Given the description of an element on the screen output the (x, y) to click on. 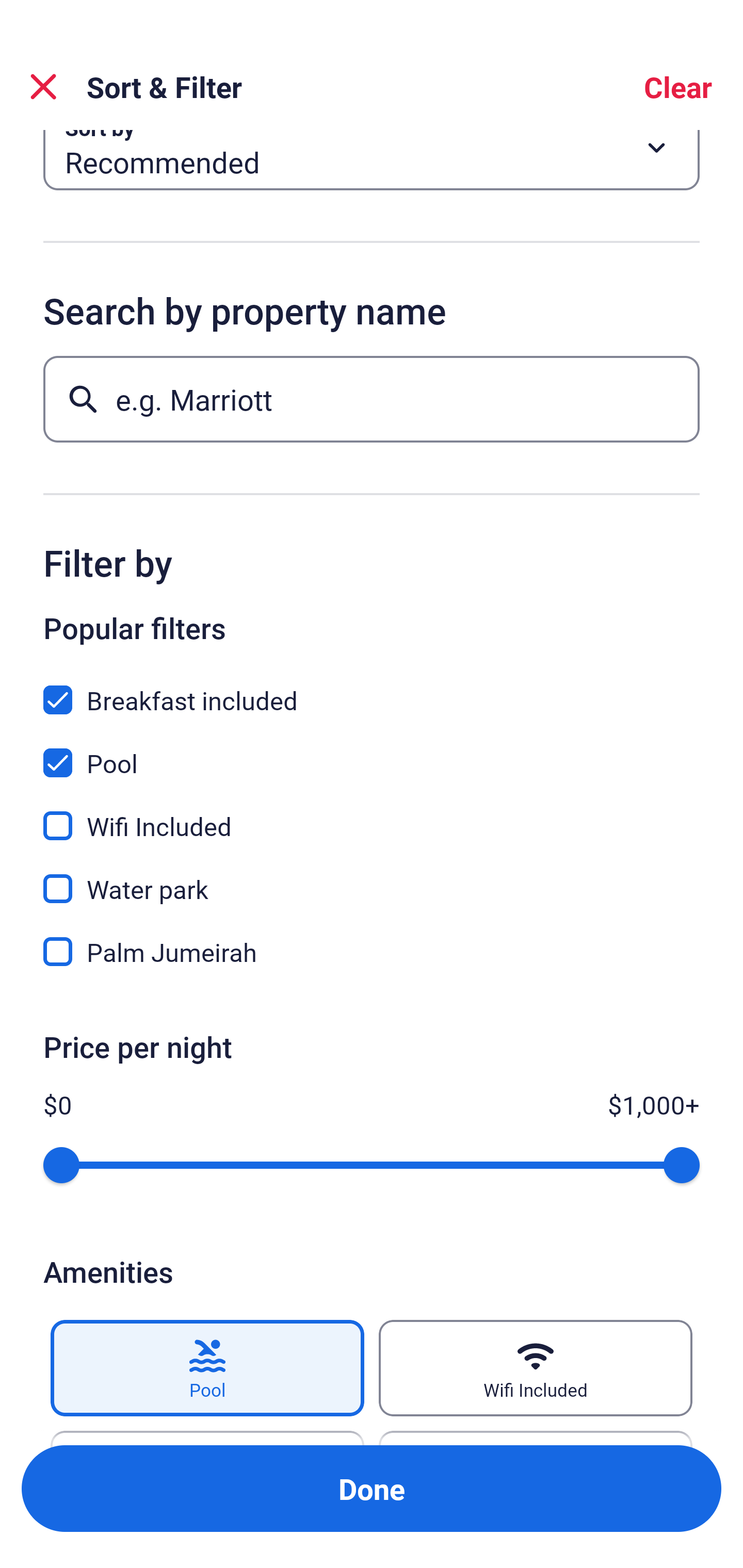
Close Sort and Filter (43, 86)
Clear (677, 86)
e.g. Marriott Button (371, 398)
Breakfast included, Breakfast included (371, 687)
Pool, Pool (371, 750)
Wifi Included, Wifi Included (371, 813)
Water park, Water park (371, 877)
Palm Jumeirah, Palm Jumeirah (371, 952)
Pool (207, 1367)
Wifi Included (535, 1367)
Apply and close Sort and Filter Done (371, 1488)
